Given the description of an element on the screen output the (x, y) to click on. 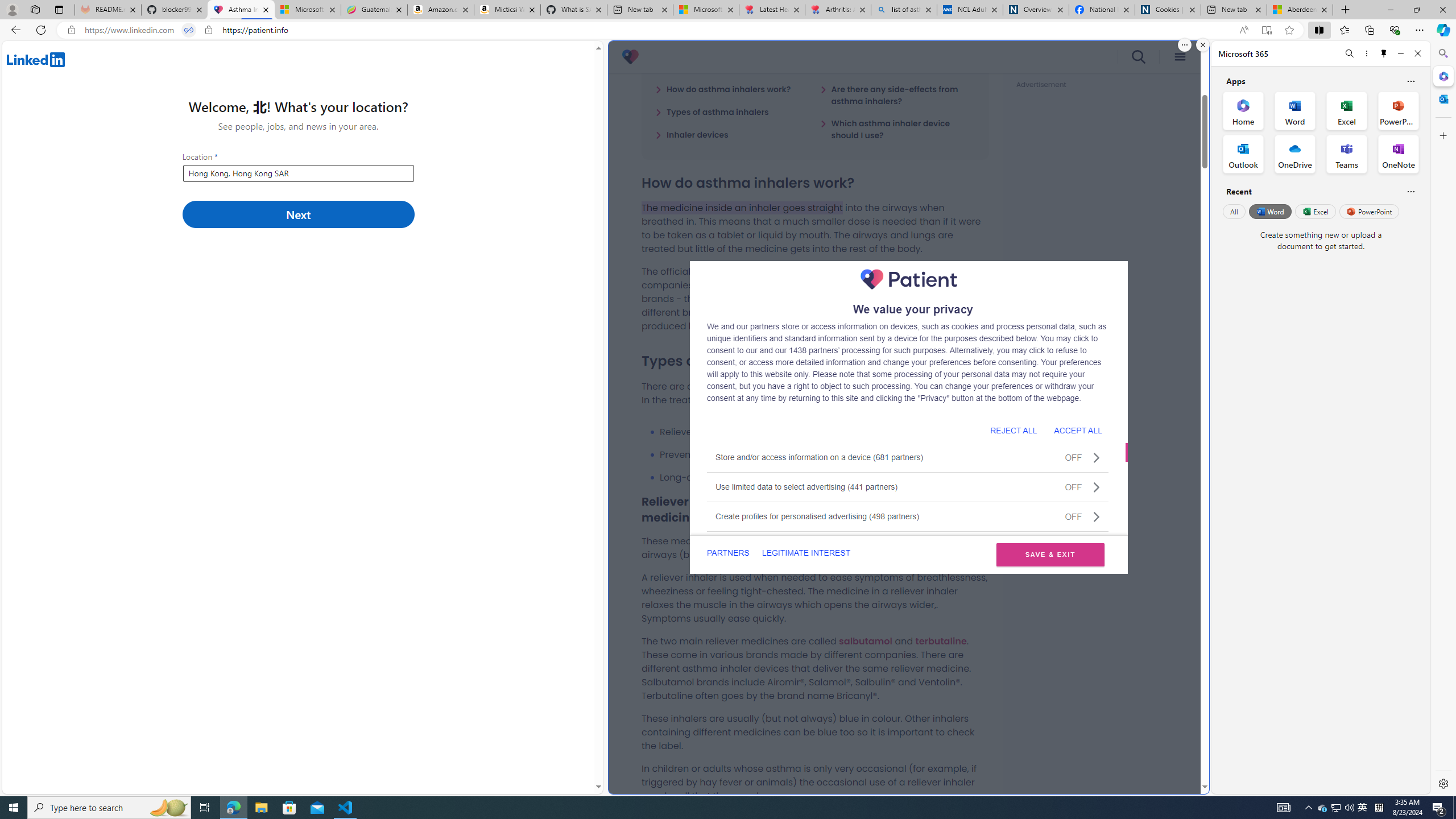
OneDrive Office App (1295, 154)
Arthritis: Ask Health Professionals (838, 9)
Teams Office App (1346, 154)
Long-acting bronchodilators. (823, 477)
App bar (728, 29)
Publisher Logo (908, 278)
REJECT ALL (1013, 430)
Word Office App (1295, 110)
Are there any side-effects from asthma inhalers? (897, 94)
